Given the description of an element on the screen output the (x, y) to click on. 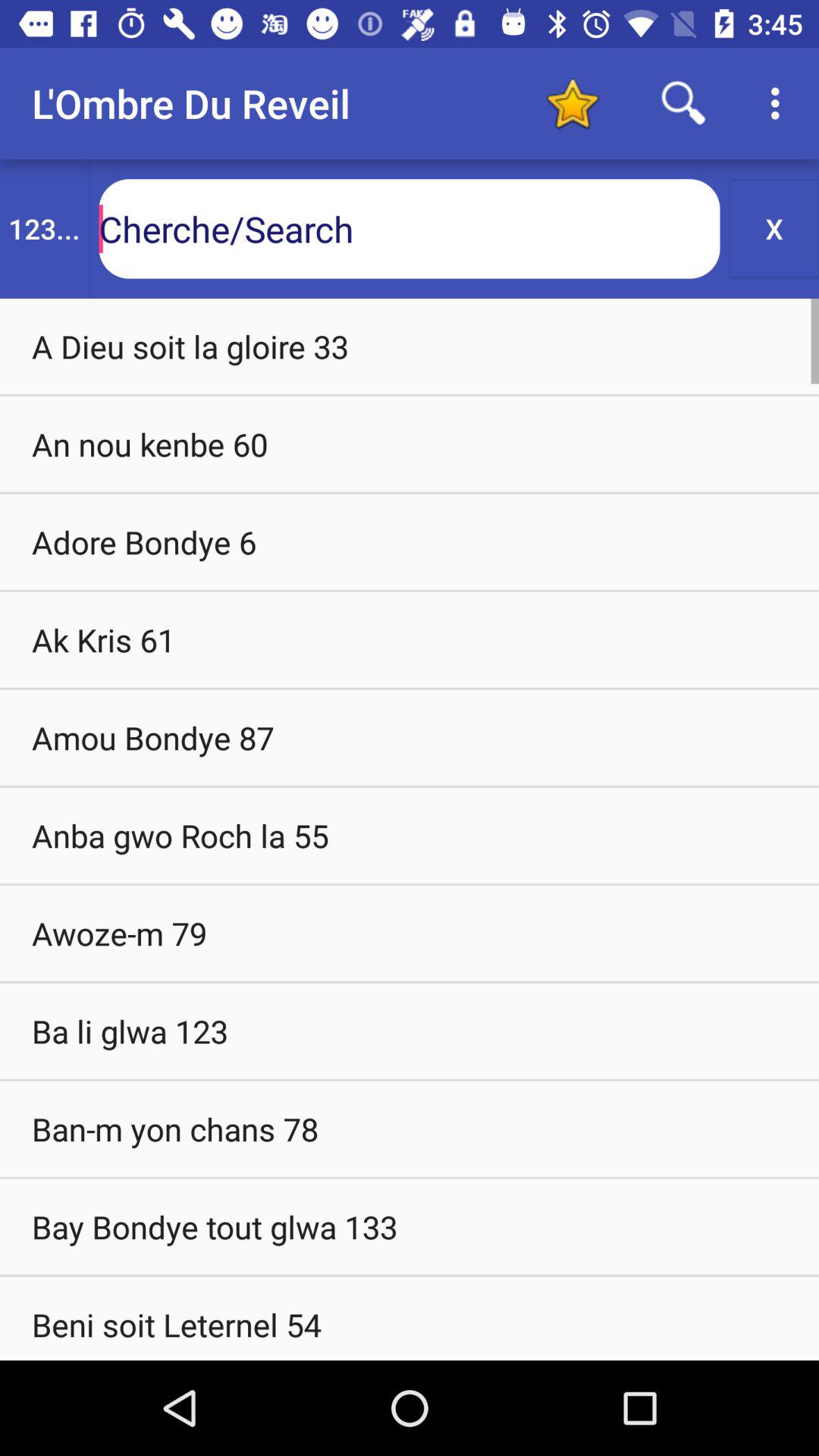
go to favorites (571, 103)
